Given the description of an element on the screen output the (x, y) to click on. 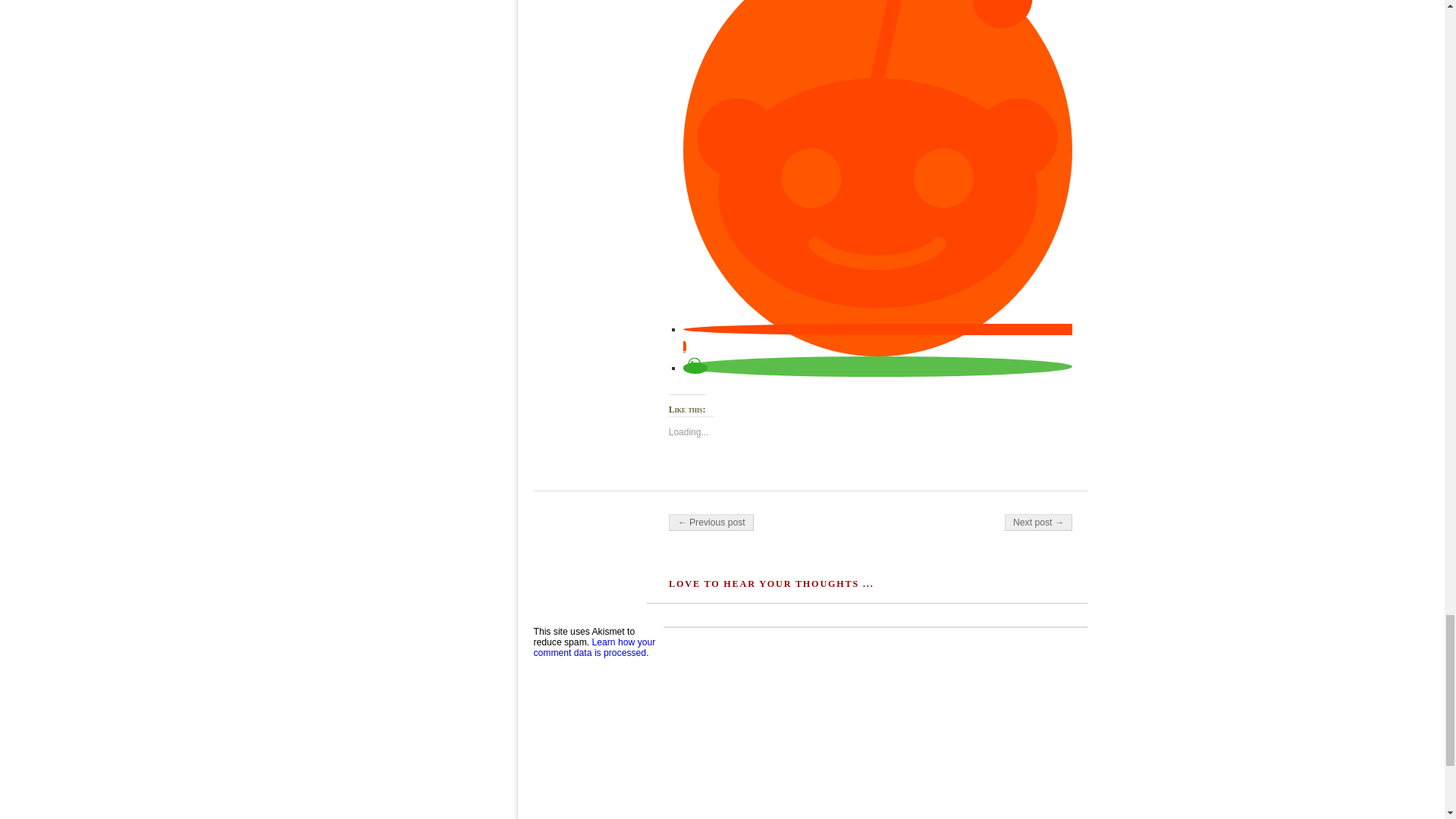
Share on Whatsapp (694, 367)
Comment Form (875, 722)
Share on Reddit (876, 337)
